Given the description of an element on the screen output the (x, y) to click on. 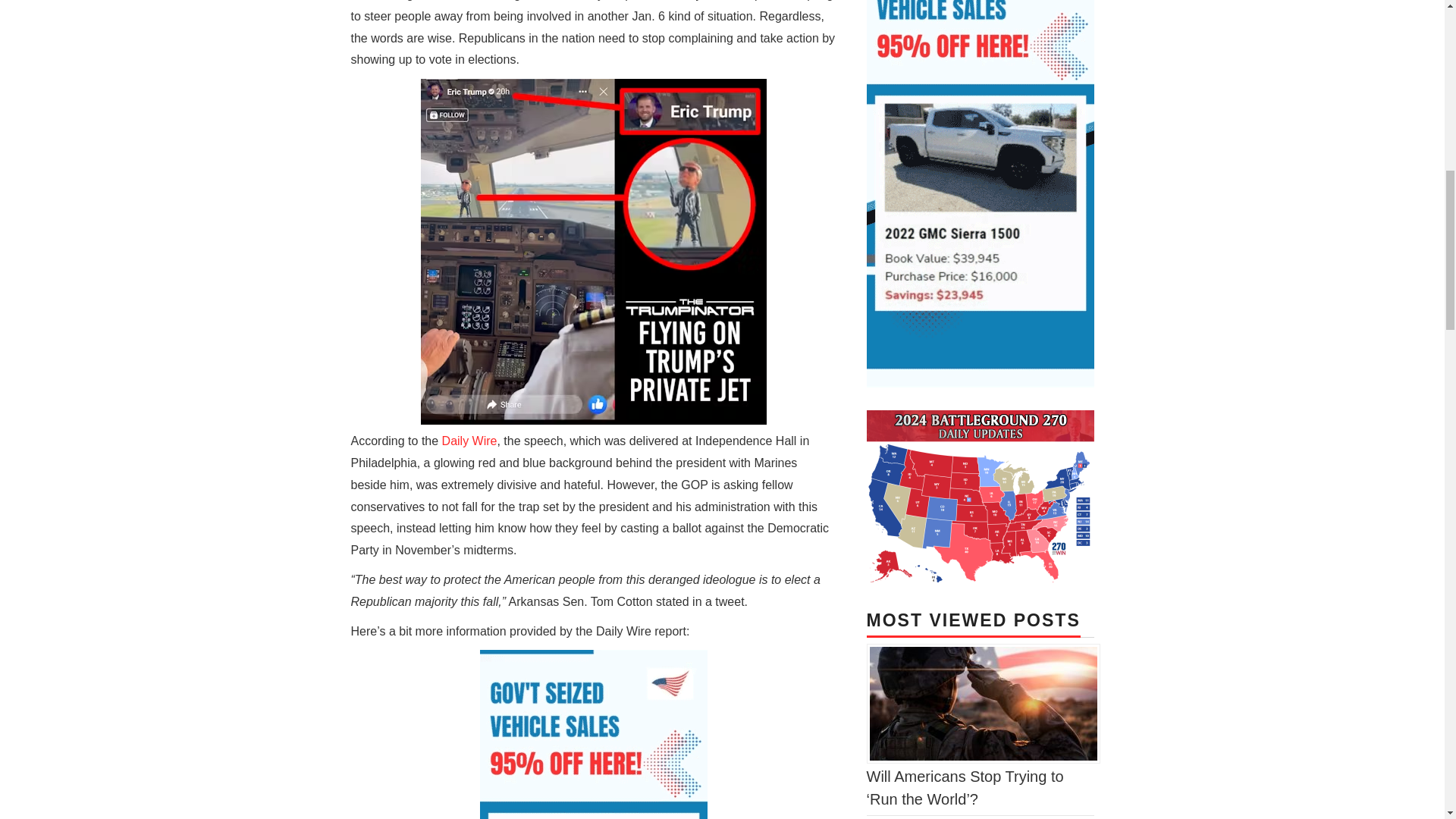
Daily Wire (469, 440)
